Given the description of an element on the screen output the (x, y) to click on. 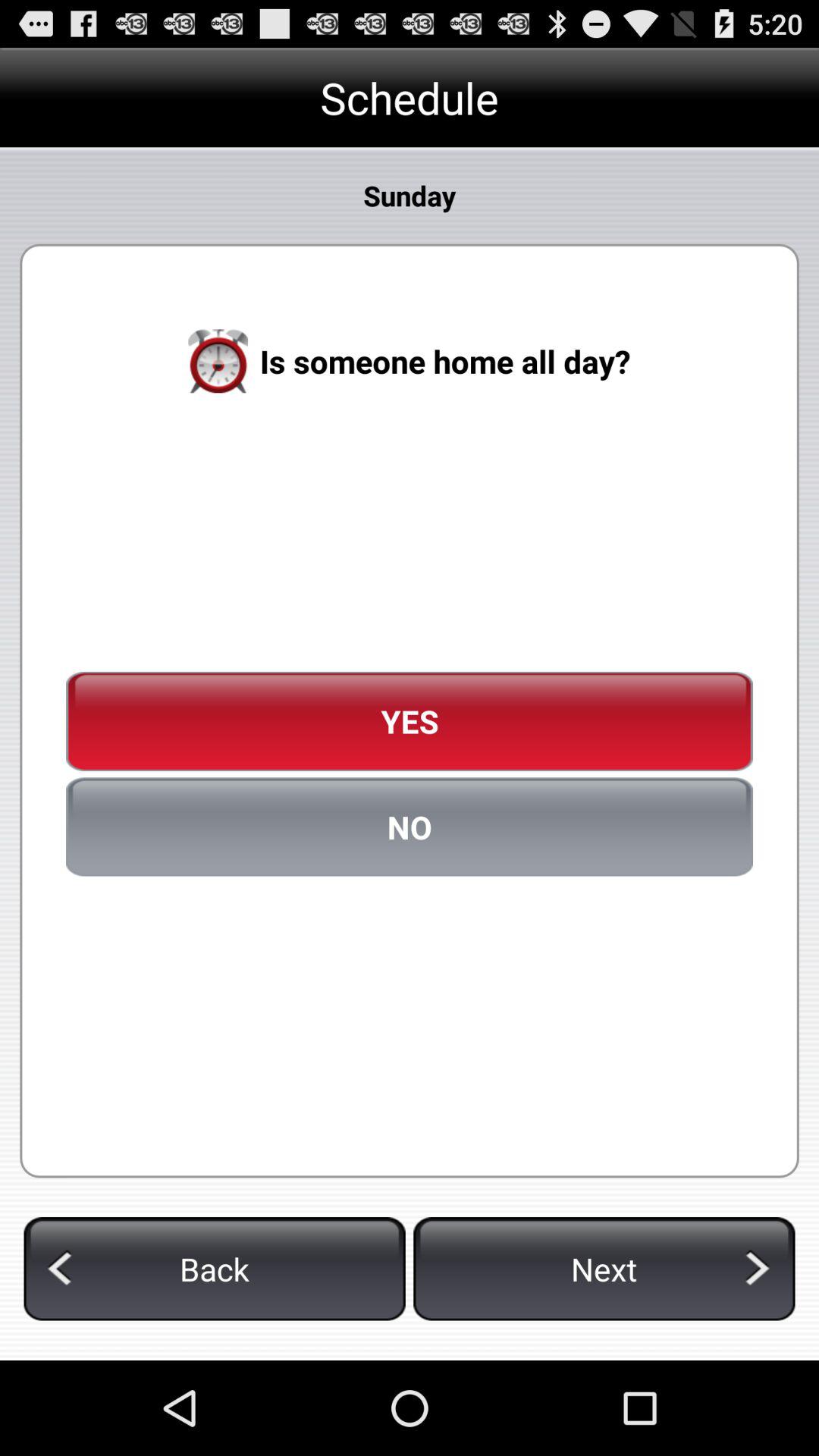
launch icon below the no (604, 1268)
